Given the description of an element on the screen output the (x, y) to click on. 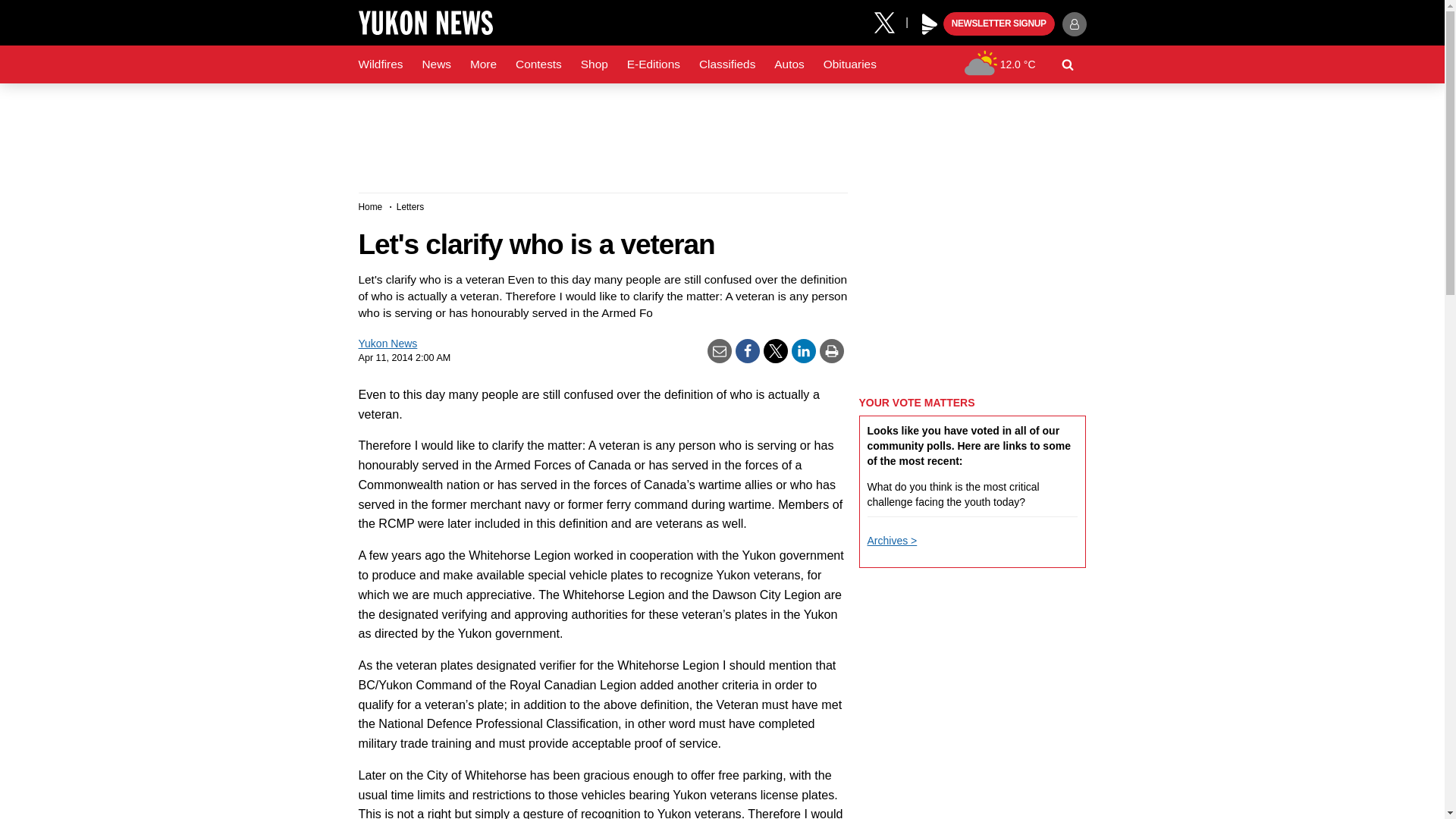
Wildfires (380, 64)
News (435, 64)
Play (929, 24)
Black Press Media (929, 24)
NEWSLETTER SIGNUP (998, 24)
X (889, 21)
